Given the description of an element on the screen output the (x, y) to click on. 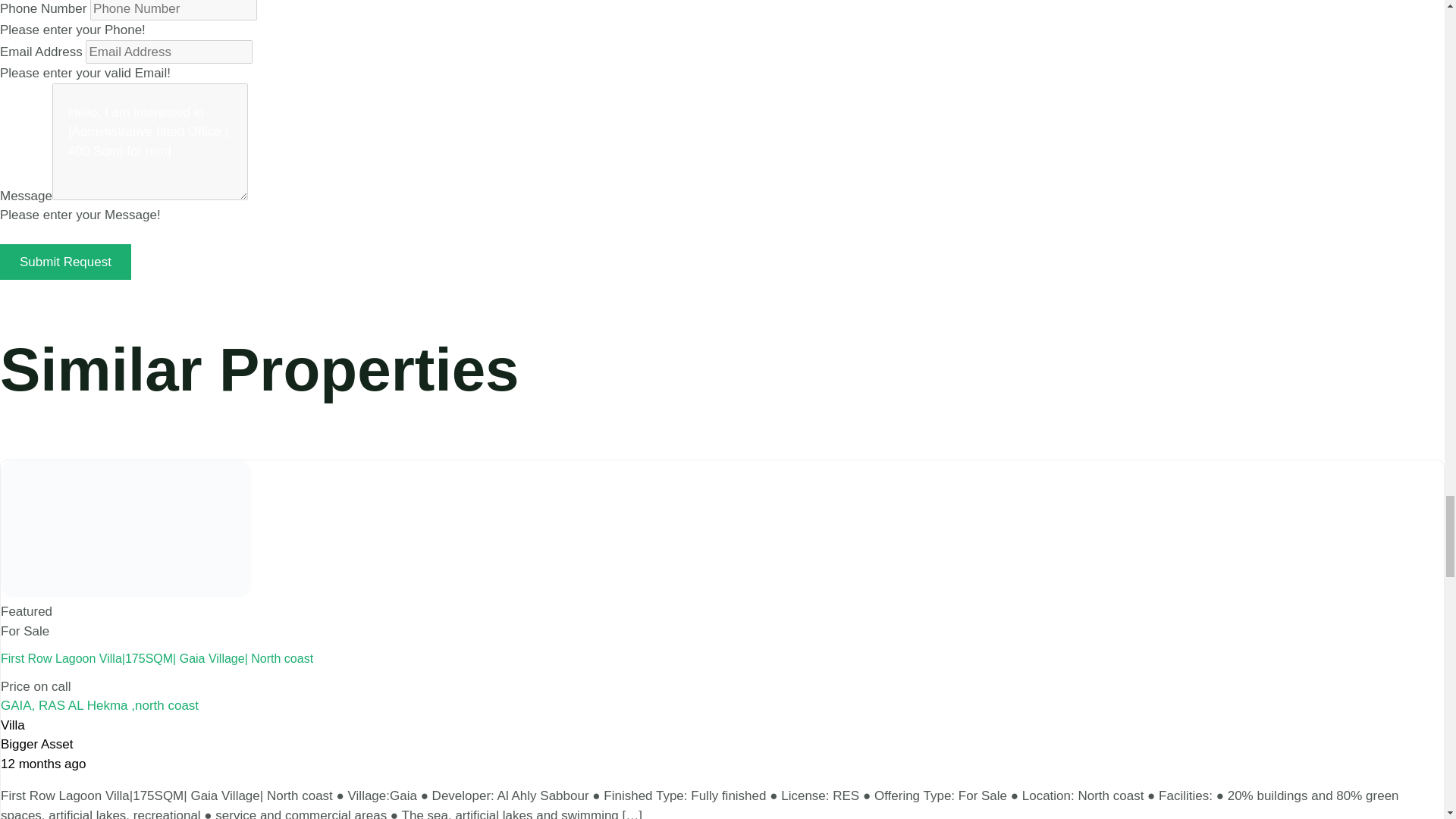
Submit Request (65, 262)
